Given the description of an element on the screen output the (x, y) to click on. 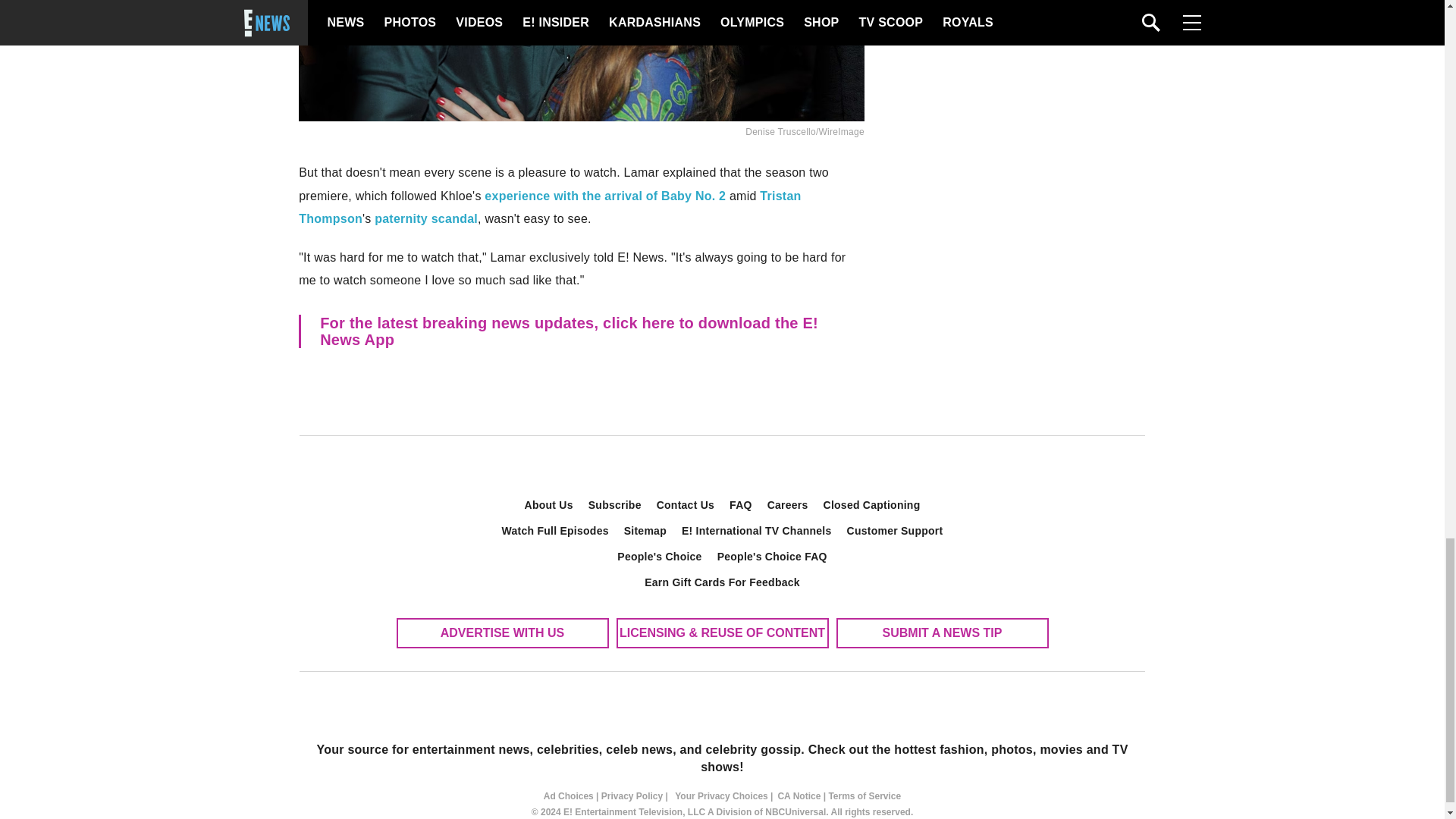
paternity scandal (425, 218)
Tristan Thompson (549, 207)
experience with the arrival of Baby No. 2 (604, 195)
